Given the description of an element on the screen output the (x, y) to click on. 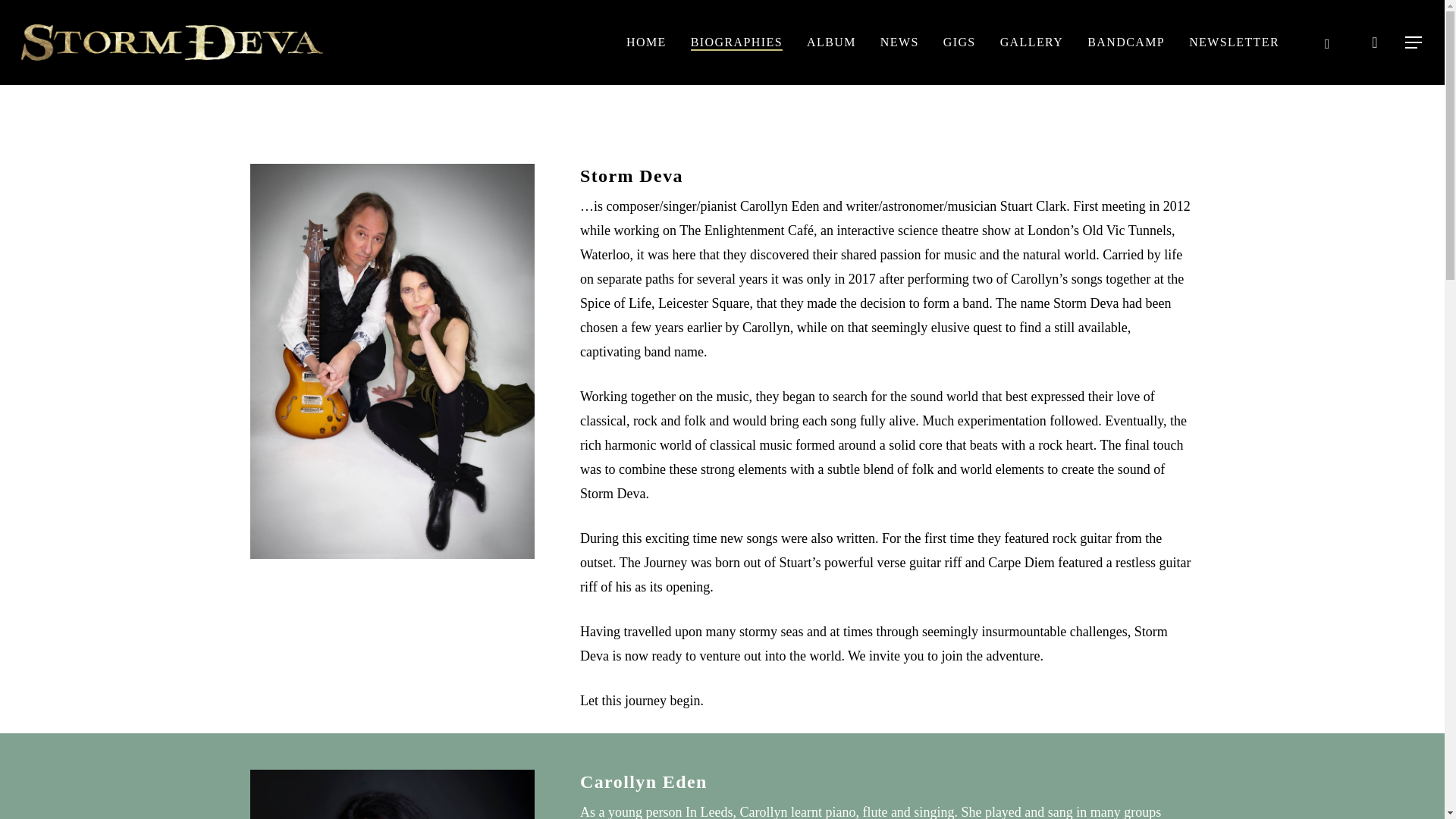
GIGS (959, 42)
ALBUM (831, 42)
BANDCAMP (1125, 42)
search (1374, 42)
HOME (646, 42)
BIOGRAPHIES (736, 42)
NEWSLETTER (1234, 42)
NEWS (899, 42)
Menu (1414, 42)
GALLERY (1032, 42)
EMAIL (1327, 41)
